Given the description of an element on the screen output the (x, y) to click on. 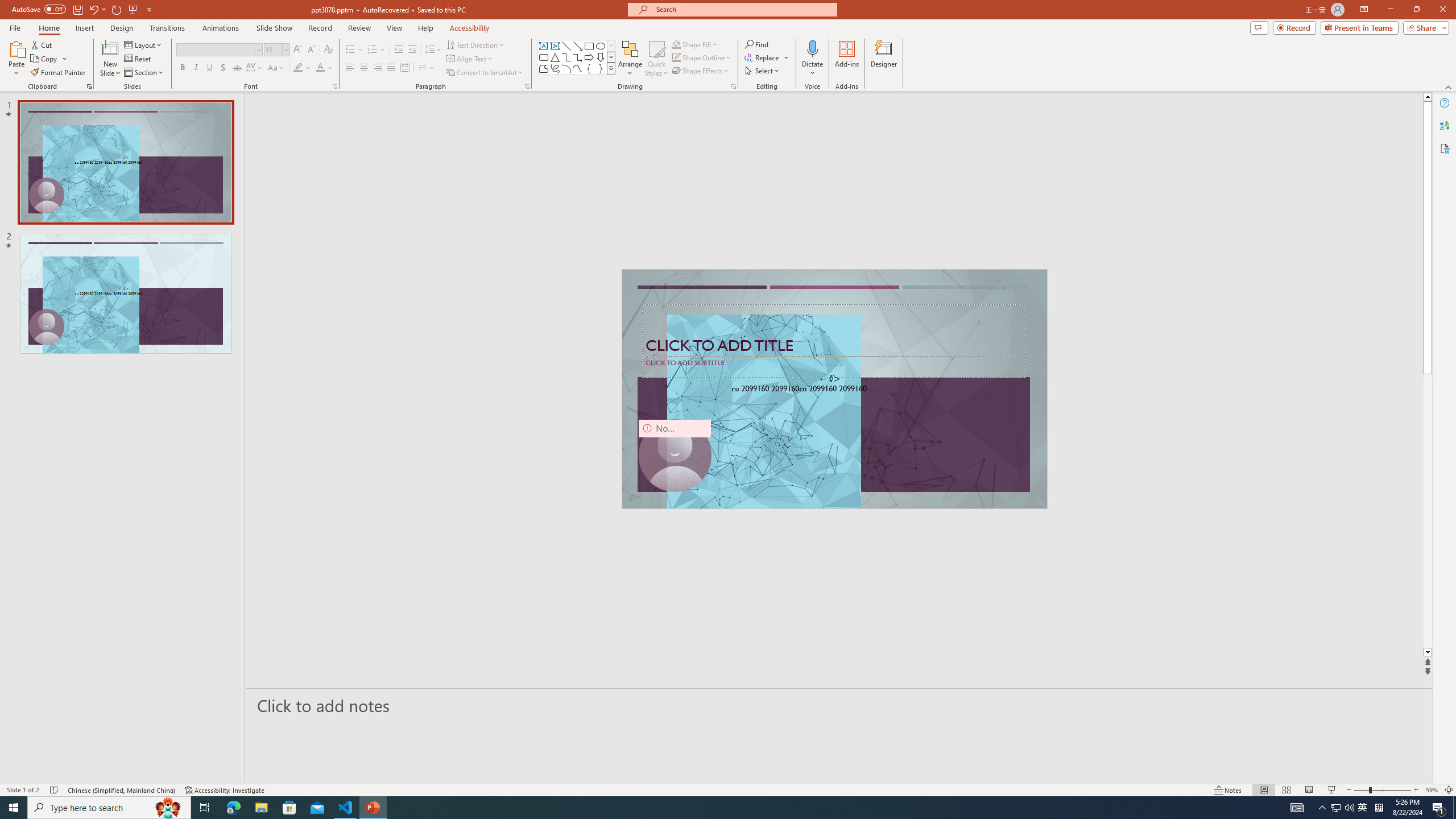
Align Left (349, 67)
Subtitle TextBox (834, 366)
Format Object... (733, 85)
Shapes (611, 68)
